Given the description of an element on the screen output the (x, y) to click on. 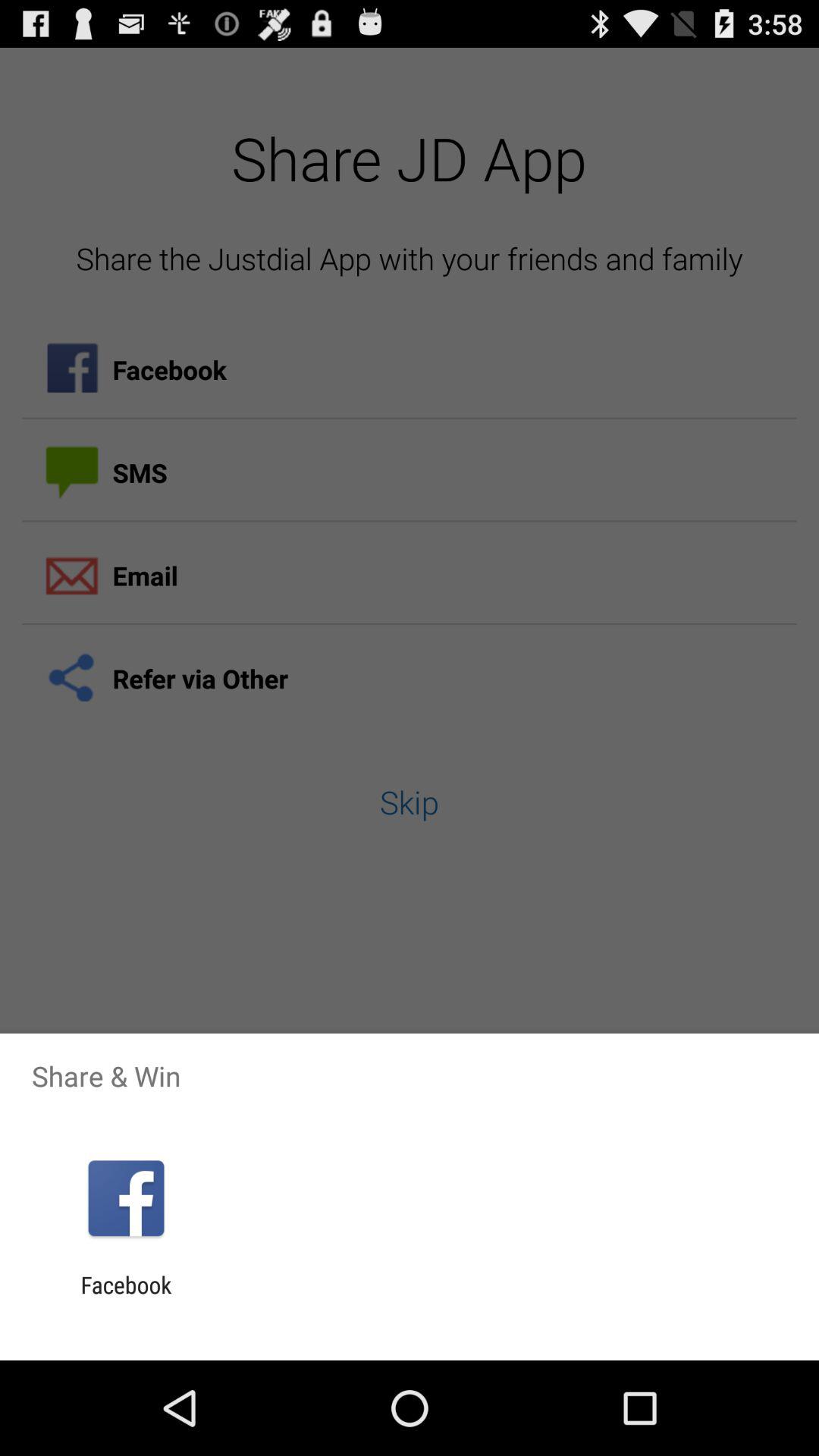
turn off the facebook icon (125, 1298)
